Given the description of an element on the screen output the (x, y) to click on. 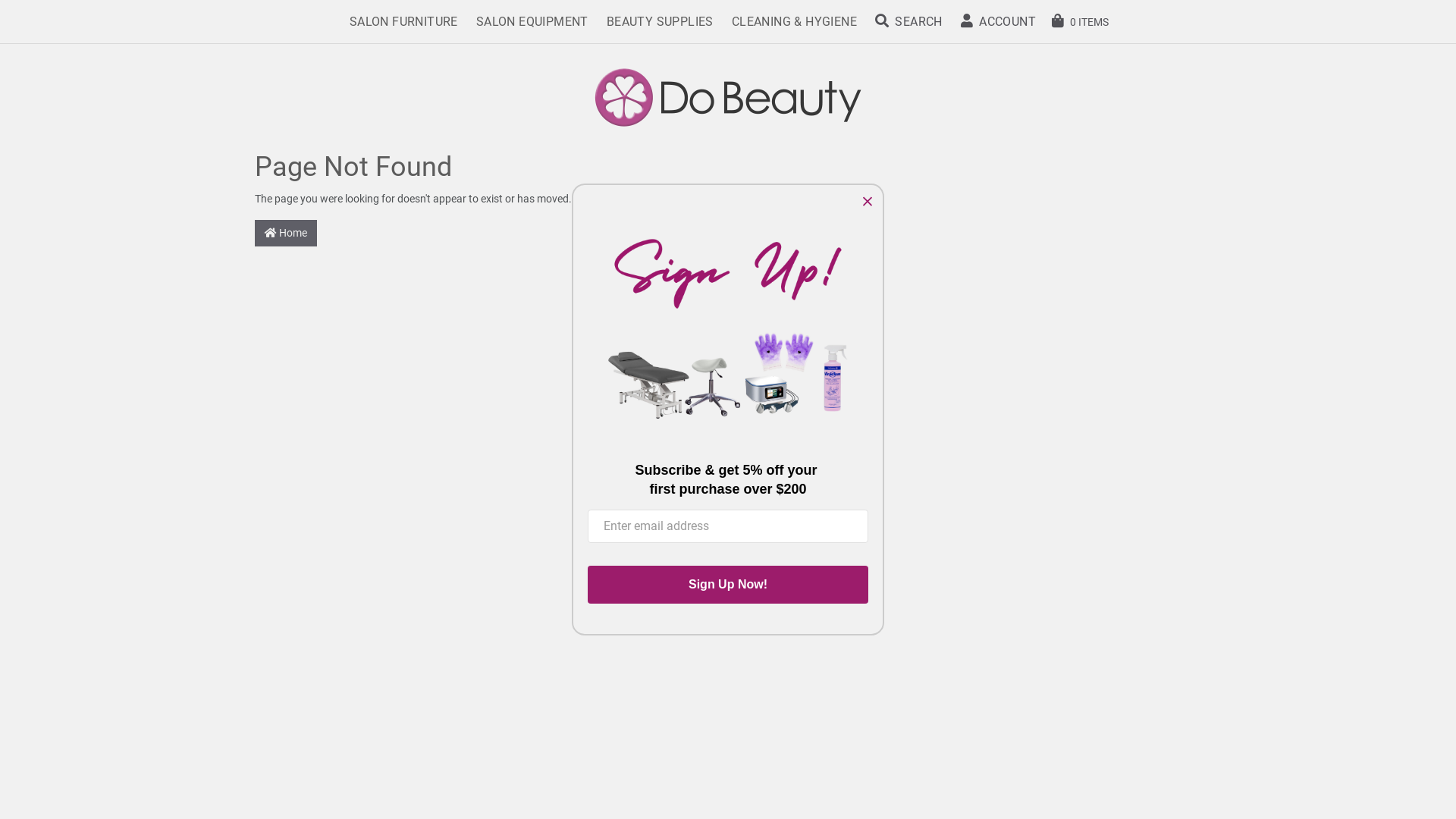
SALON EQUIPMENT Element type: text (532, 21)
SEARCH Element type: text (908, 21)
ACCOUNT Element type: text (997, 21)
Home Element type: text (285, 232)
BEAUTY SUPPLIES Element type: text (659, 21)
CLEANING & HYGIENE Element type: text (794, 21)
0 ITEMS Element type: text (1079, 21)
SALON FURNITURE Element type: text (403, 21)
Do Beauty Element type: hover (727, 96)
